Given the description of an element on the screen output the (x, y) to click on. 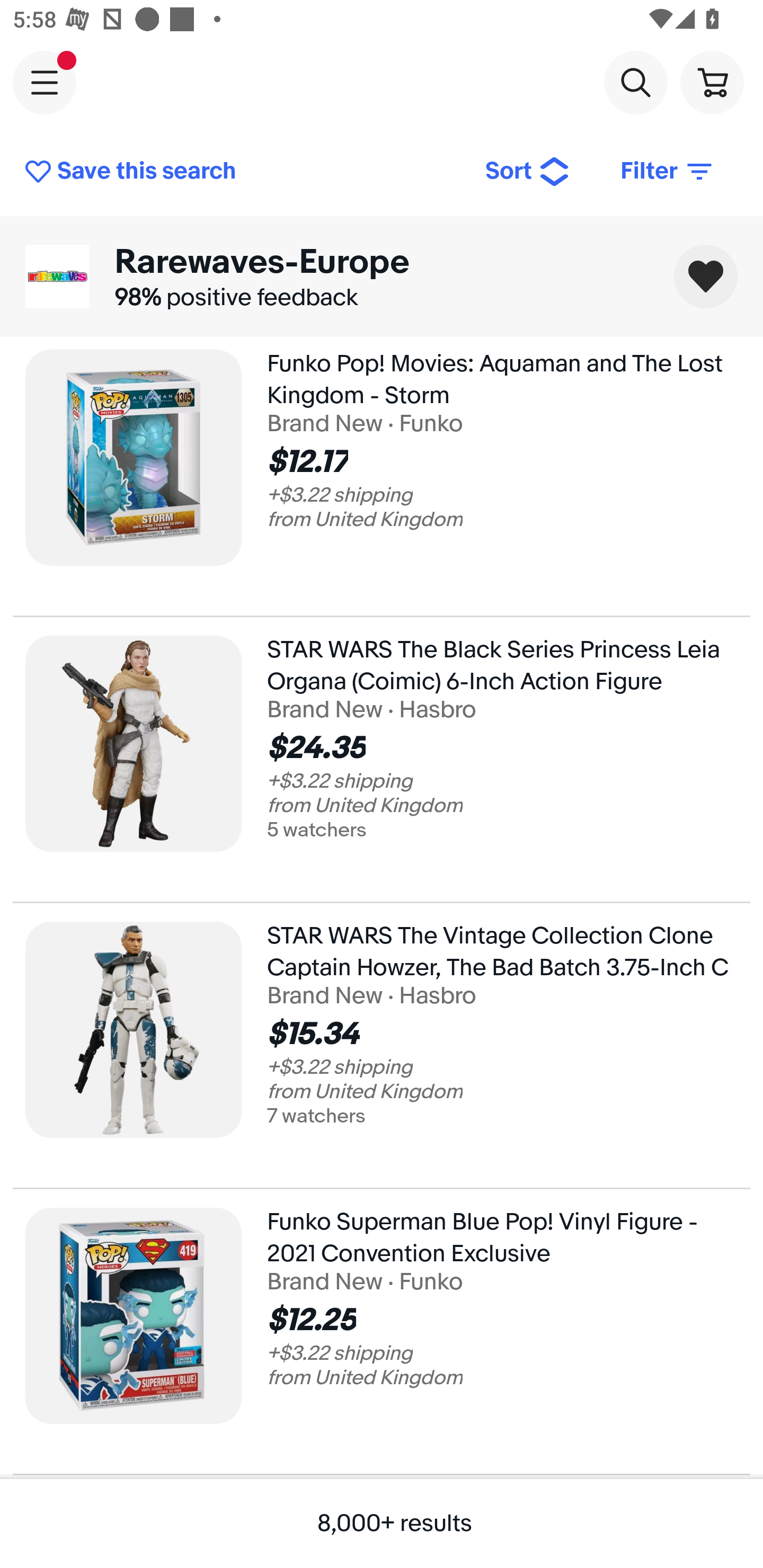
Main navigation, notification is pending, open (44, 82)
Search (635, 81)
Cart button shopping cart (711, 81)
Save this search (241, 171)
Sort (527, 171)
Filter (667, 171)
Saved Seller - Unsave seller rarewaves-europe (705, 276)
